Given the description of an element on the screen output the (x, y) to click on. 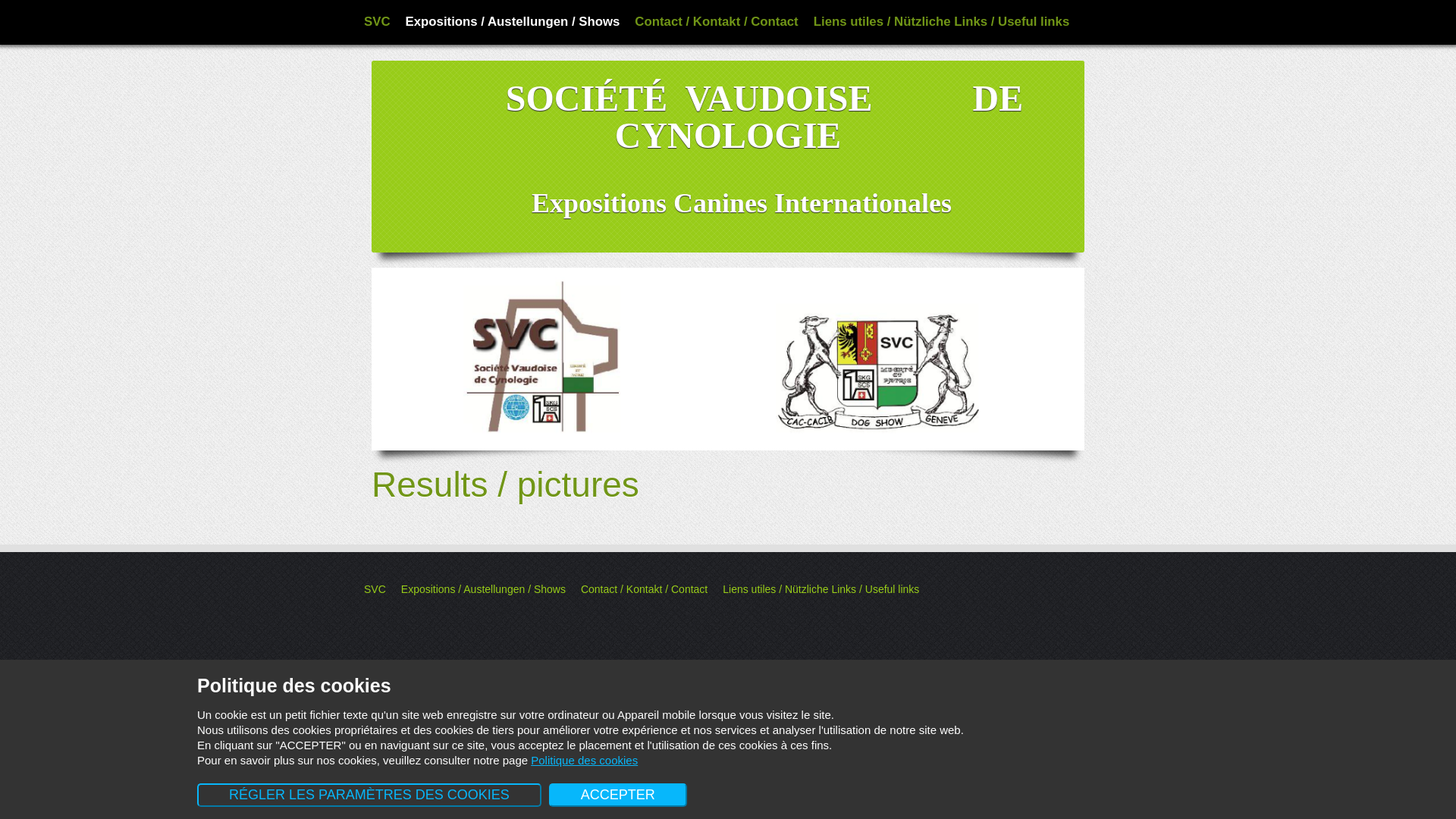
Contact / Kontakt / Contact Element type: text (643, 589)
ACCEPTER Element type: text (618, 794)
Expositions / Austellungen / Shows Element type: text (483, 589)
SVC Element type: text (374, 589)
Politique des cookies Element type: text (583, 759)
Expositions / Austellungen / Shows Element type: text (512, 21)
SVC Element type: text (377, 21)
Contact / Kontakt / Contact Element type: text (715, 21)
